Given the description of an element on the screen output the (x, y) to click on. 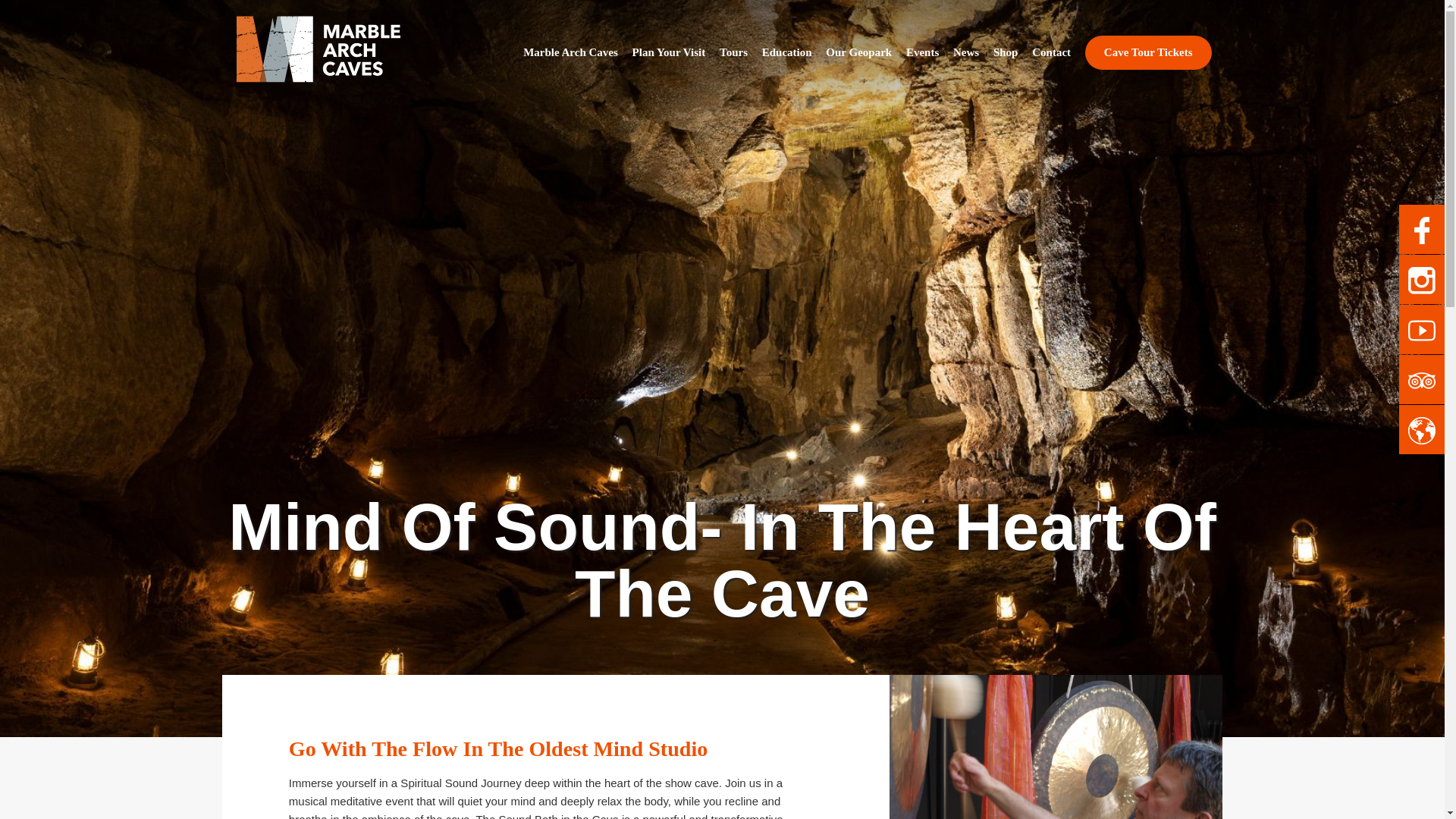
Marble Arch Caves (569, 51)
Plan Your Visit (668, 51)
Tours (733, 51)
Marble Arch Caves (317, 47)
